Given the description of an element on the screen output the (x, y) to click on. 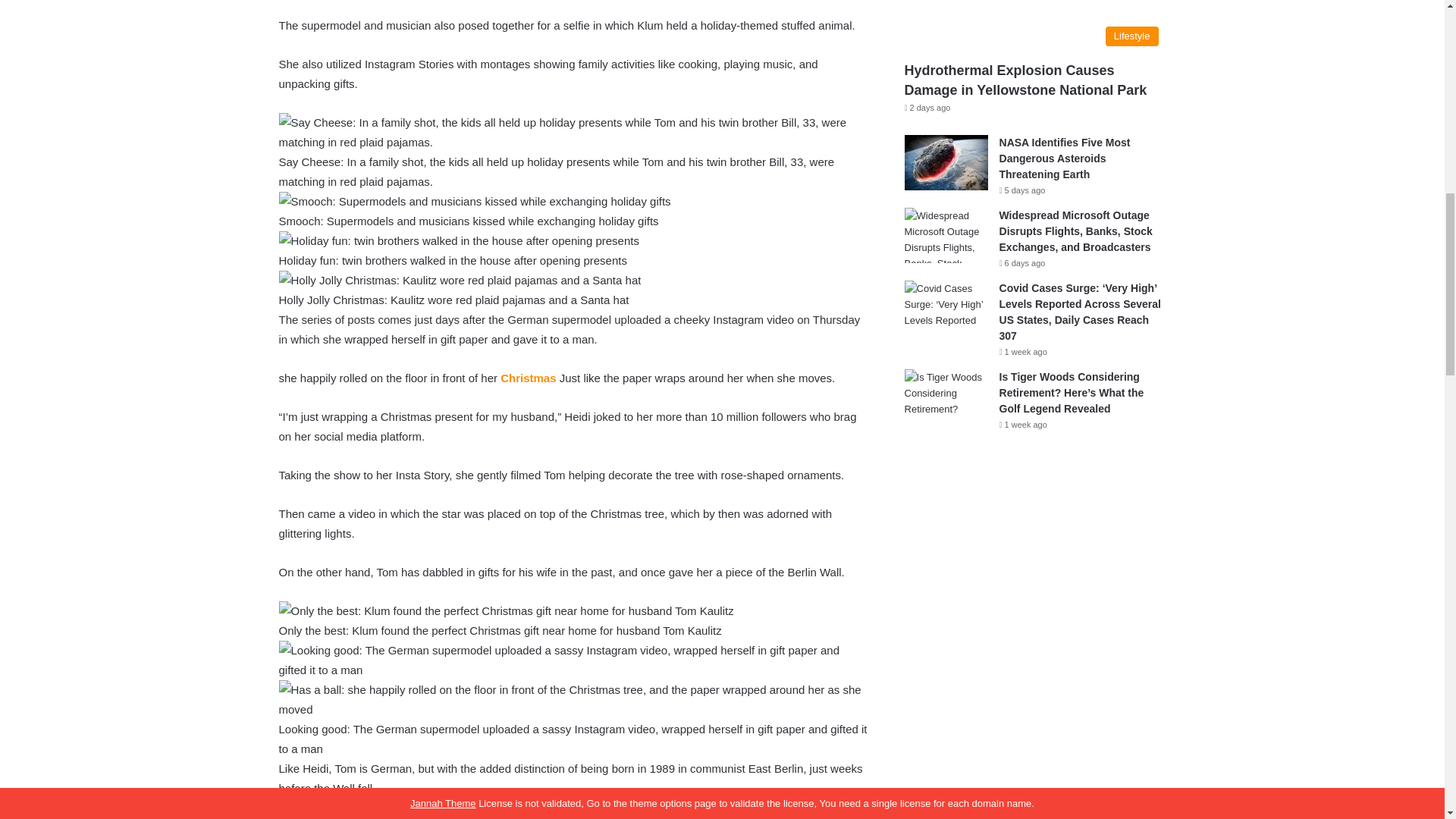
Christmas (528, 377)
